Given the description of an element on the screen output the (x, y) to click on. 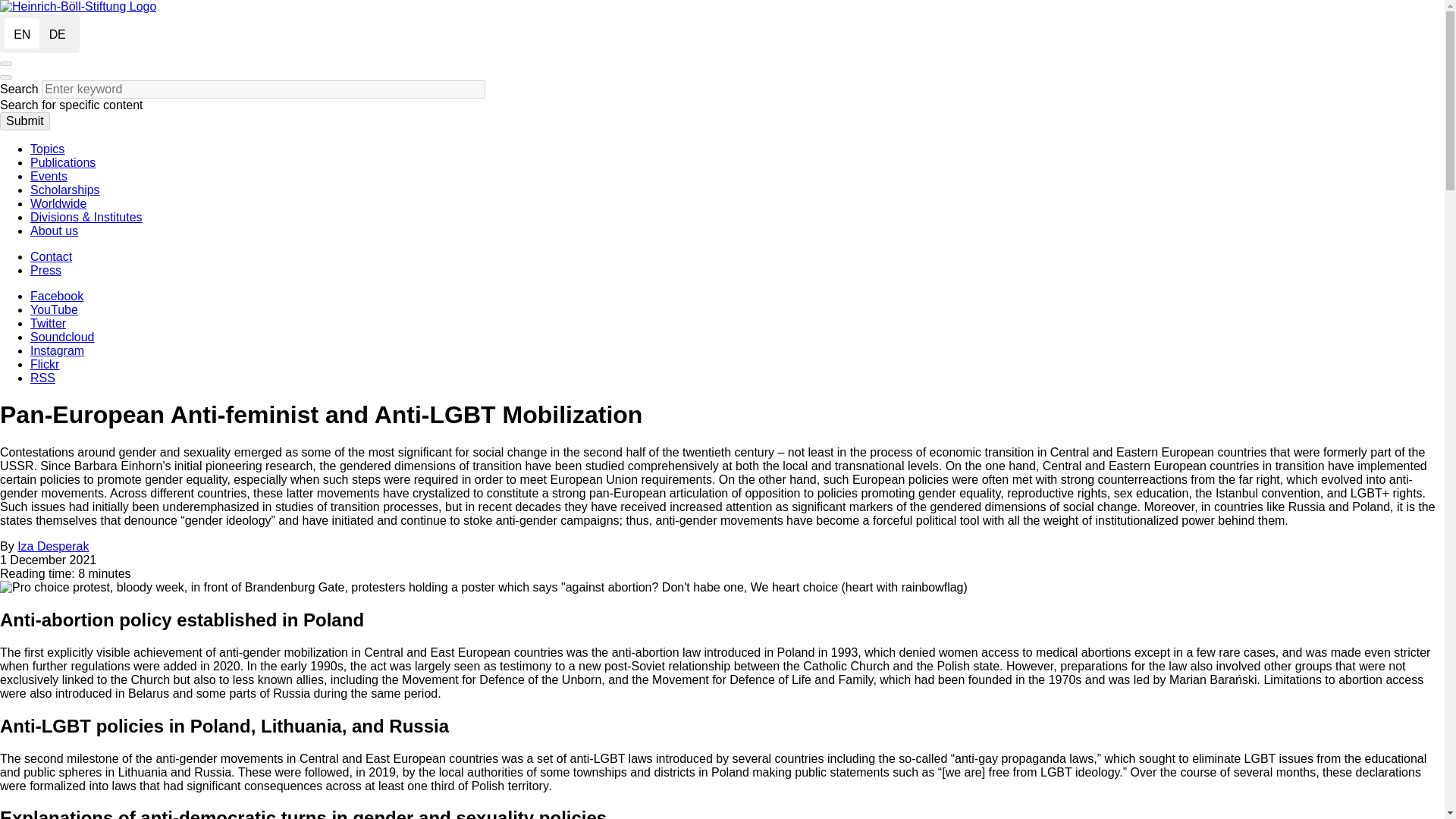
Scholarships (65, 189)
RSS (42, 377)
Submit (24, 121)
Home (77, 6)
Topics (47, 148)
About us (54, 230)
Iza Desperak (52, 545)
Press (45, 269)
Contact (50, 256)
Publications (63, 162)
